Given the description of an element on the screen output the (x, y) to click on. 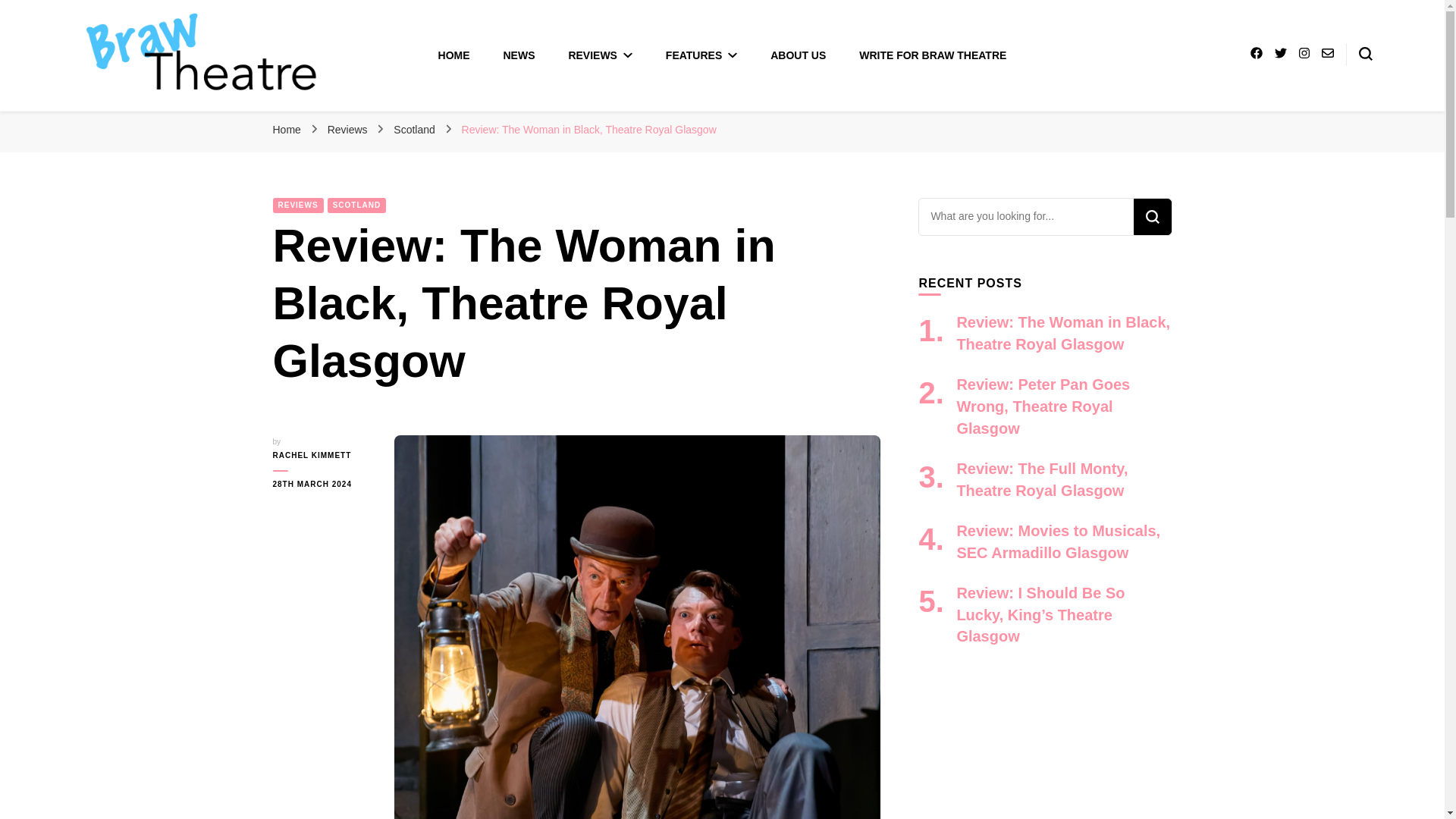
Braw Theatre (152, 114)
Search (1151, 217)
REVIEWS (599, 55)
NEWS (519, 55)
HOME (454, 55)
Search (1151, 217)
